Given the description of an element on the screen output the (x, y) to click on. 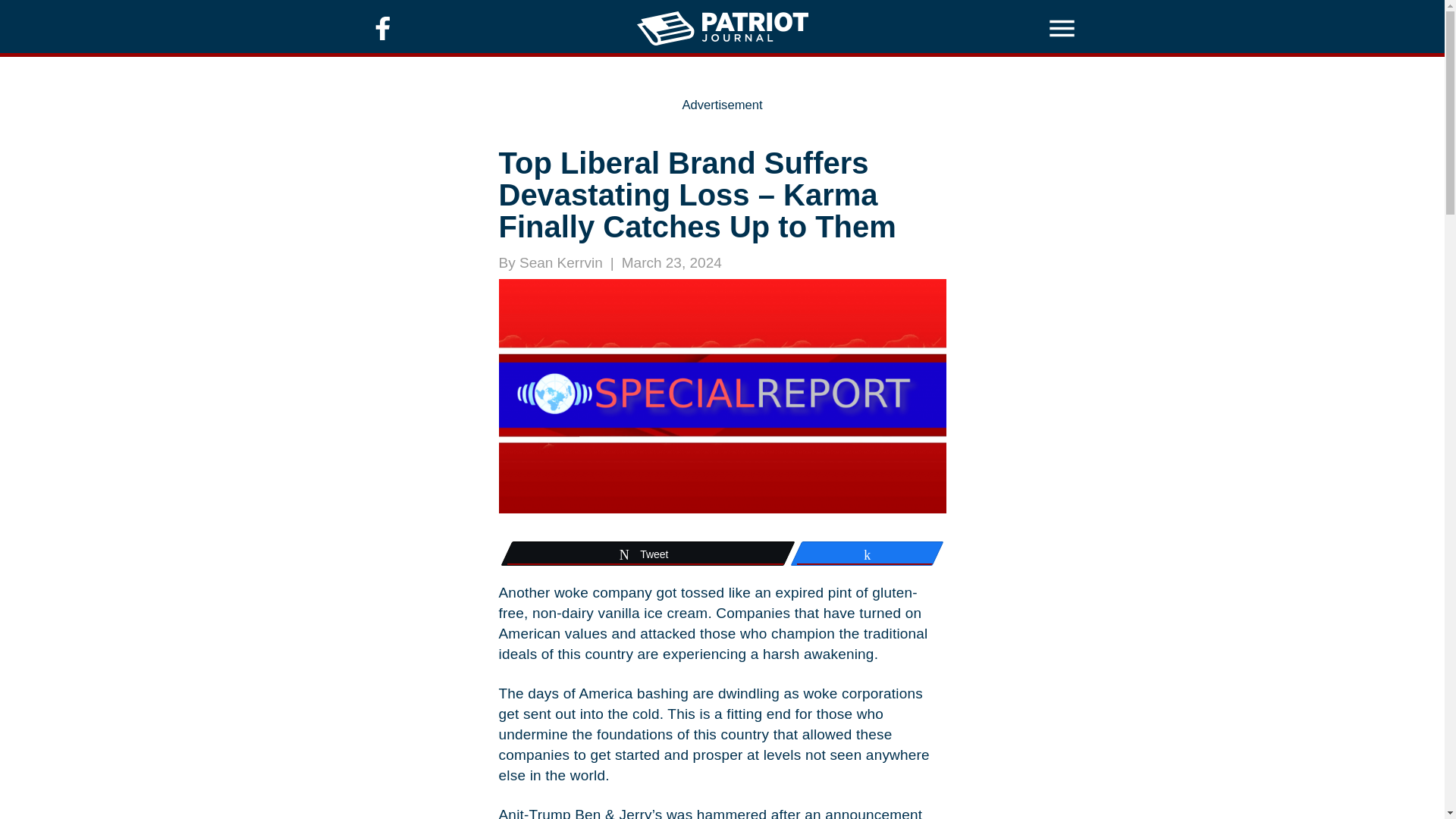
Tweet (646, 553)
Sean Kerrvin (560, 262)
